Given the description of an element on the screen output the (x, y) to click on. 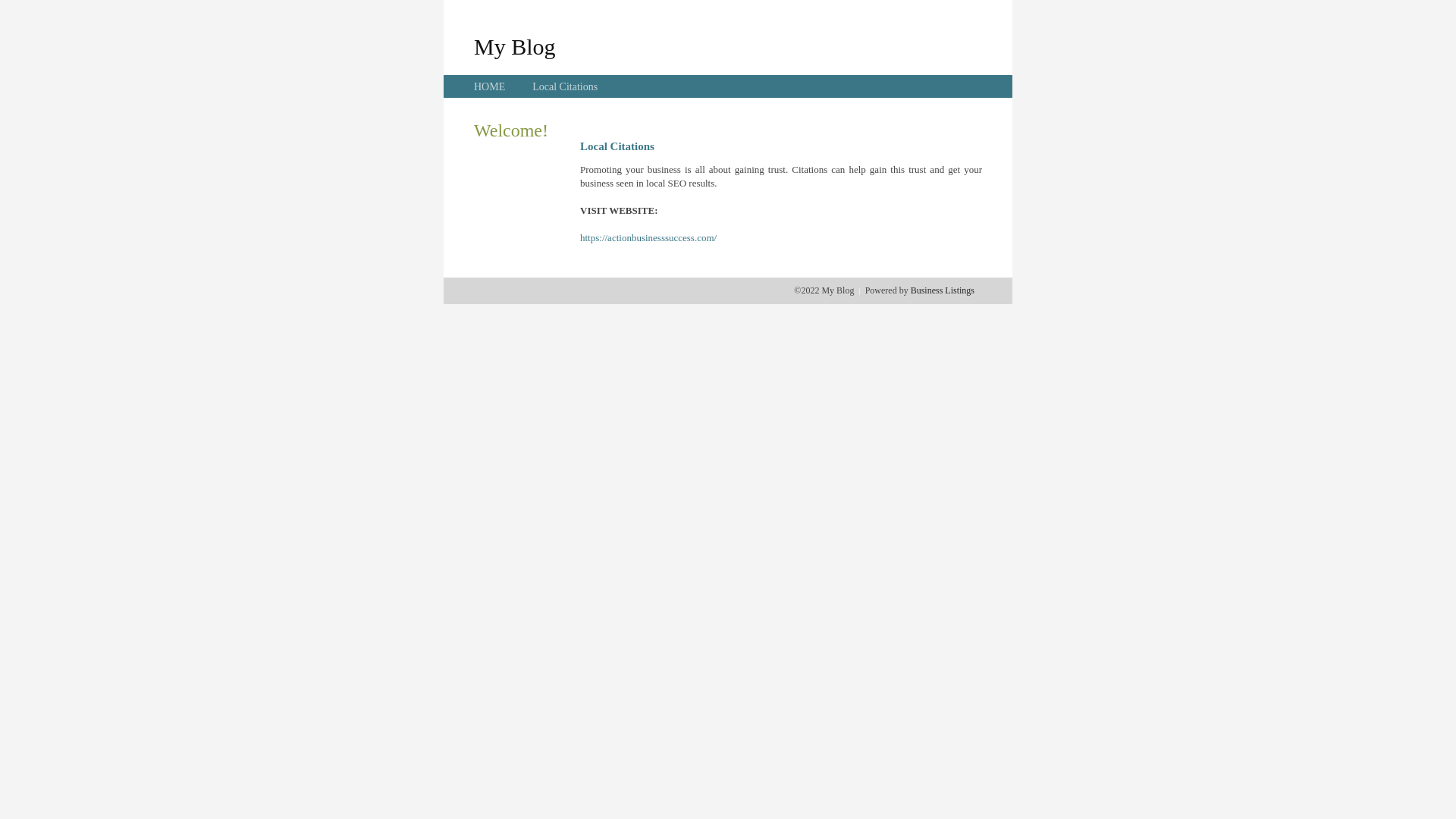
https://actionbusinesssuccess.com/ Element type: text (648, 237)
Business Listings Element type: text (942, 290)
My Blog Element type: text (514, 46)
Local Citations Element type: text (564, 86)
HOME Element type: text (489, 86)
